Given the description of an element on the screen output the (x, y) to click on. 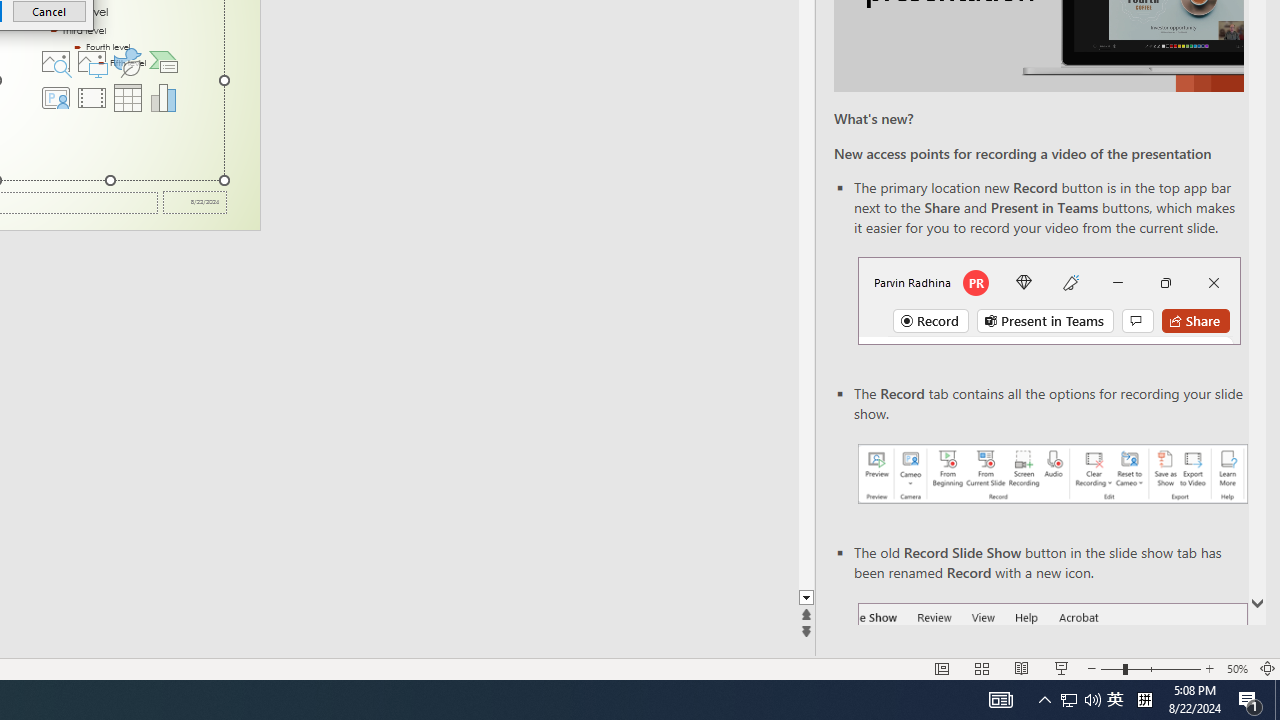
Zoom 50% (1236, 668)
Insert a SmartArt Graphic (164, 61)
Date (194, 201)
